Given the description of an element on the screen output the (x, y) to click on. 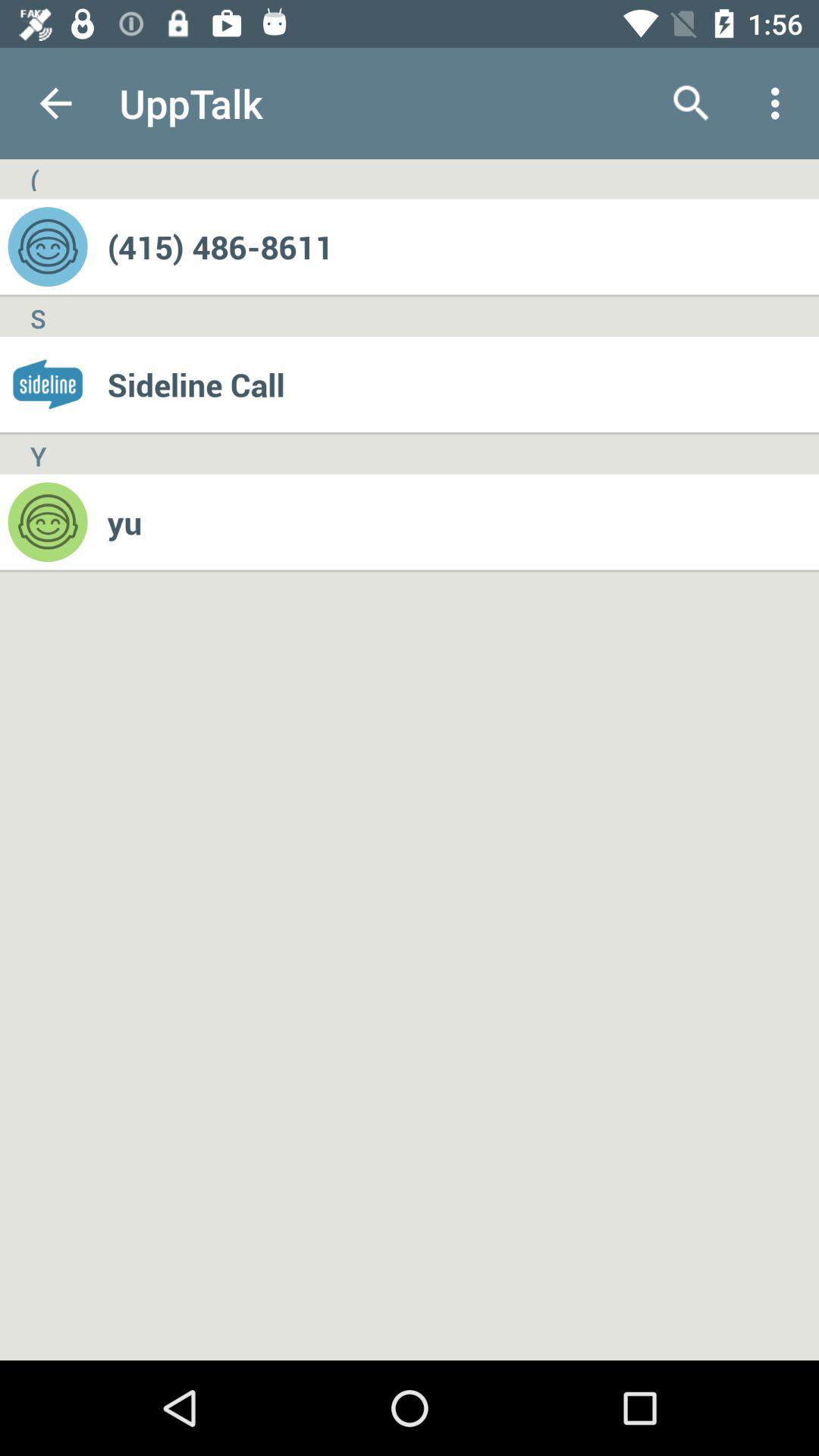
press app to the right of upptalk icon (691, 103)
